Given the description of an element on the screen output the (x, y) to click on. 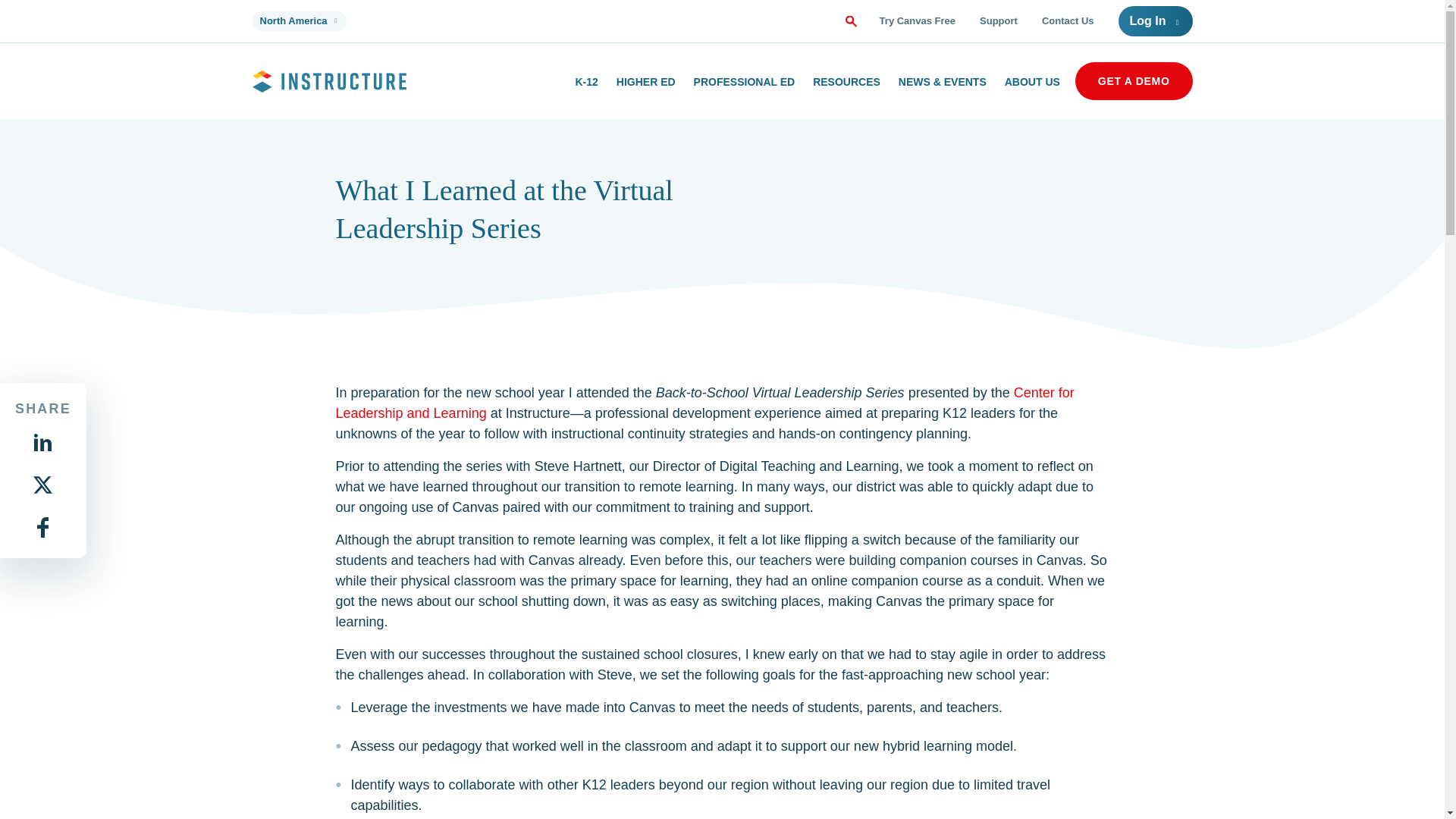
Support (998, 20)
Try Canvas Free (917, 20)
Apply (849, 20)
Contact Us (1068, 20)
North America (298, 21)
Apply (849, 20)
